Given the description of an element on the screen output the (x, y) to click on. 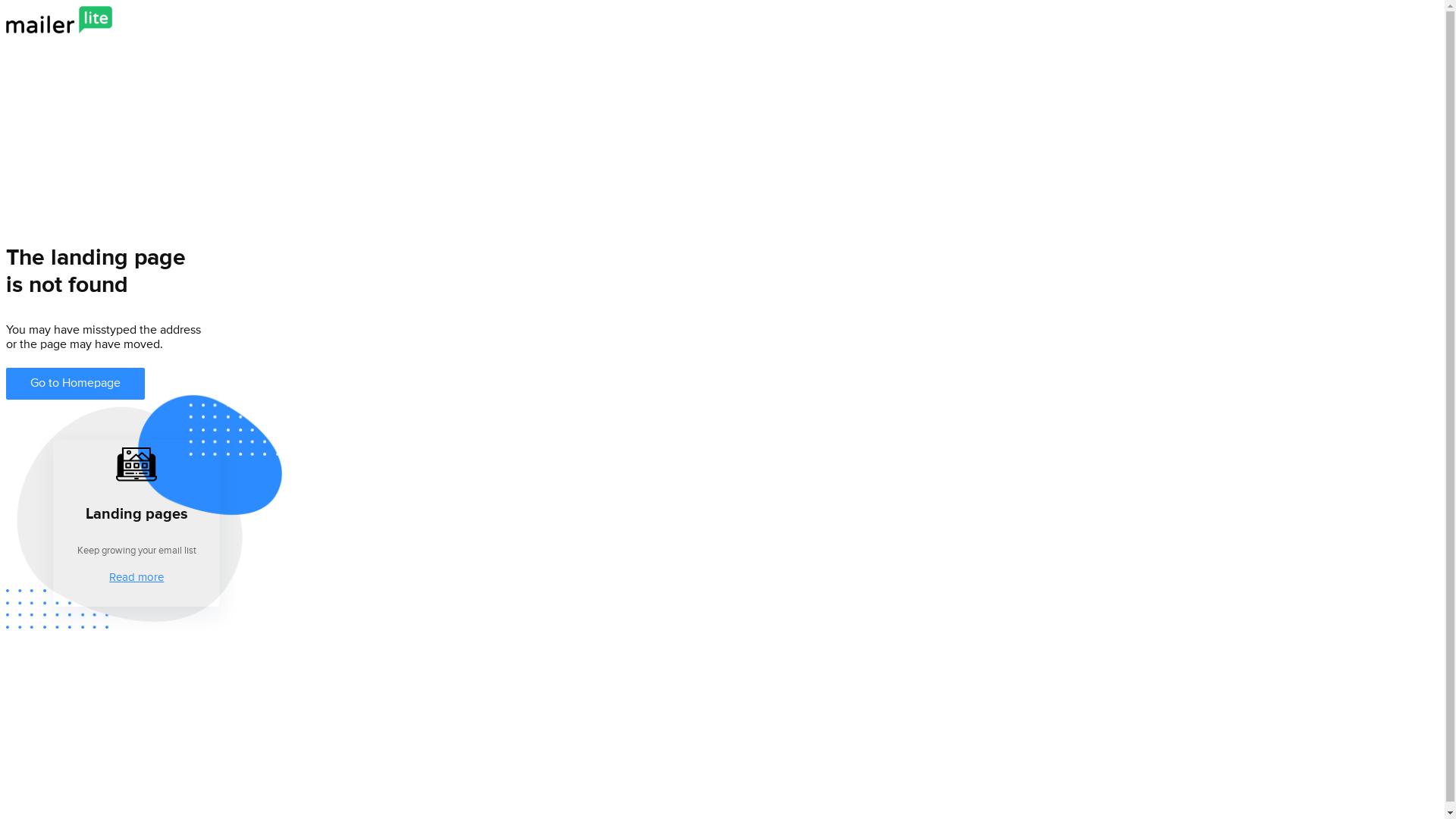
Read more Element type: text (136, 577)
Go to Homepage Element type: text (75, 383)
